Given the description of an element on the screen output the (x, y) to click on. 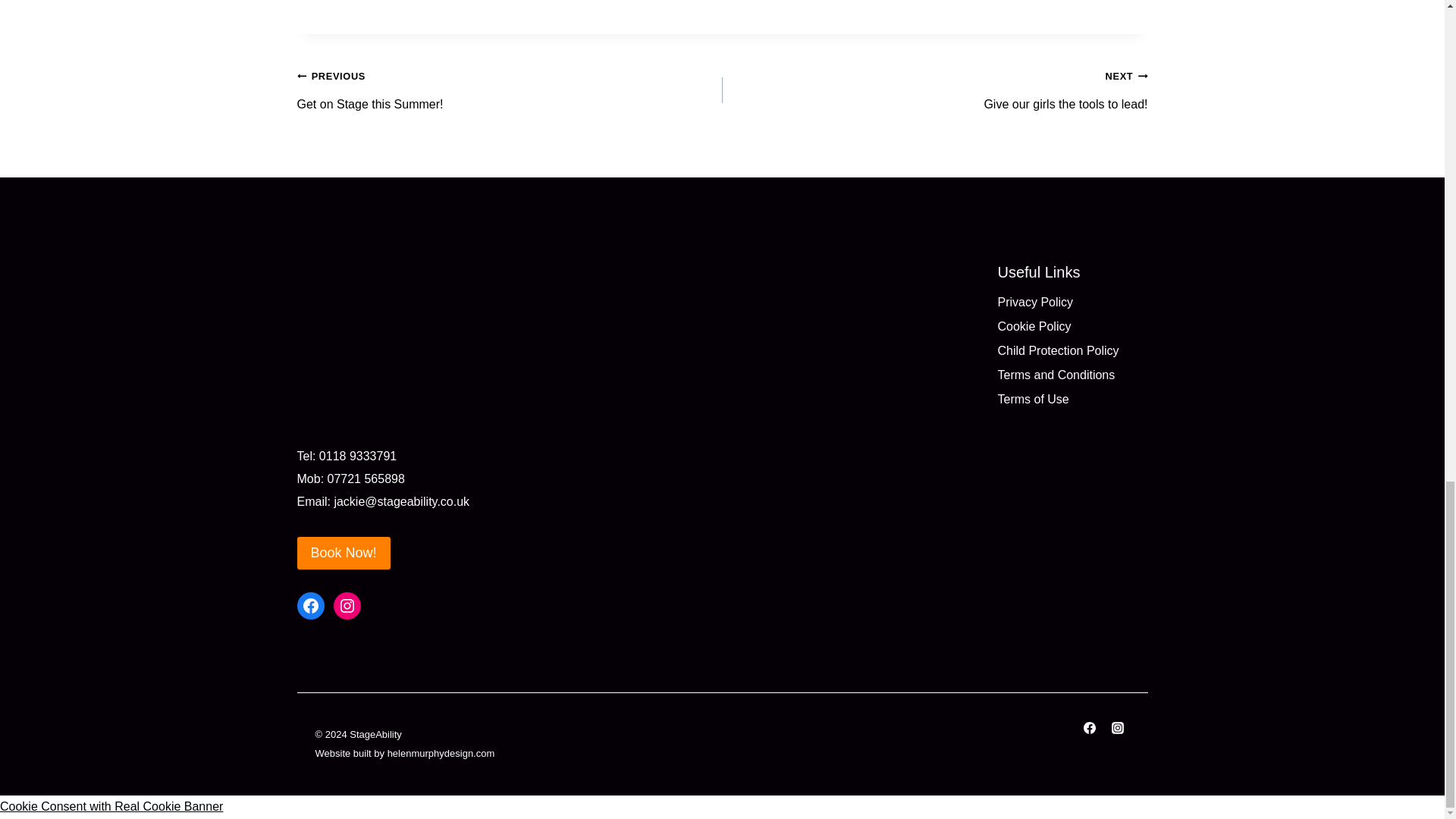
Child Protection Policy (1072, 351)
Terms of Use (1072, 400)
Instagram (347, 605)
Book Now! (343, 553)
Facebook (509, 90)
Terms and Conditions (934, 90)
Cookie Consent with Real Cookie Banner (310, 605)
helenmurphydesign.com (1072, 375)
